Given the description of an element on the screen output the (x, y) to click on. 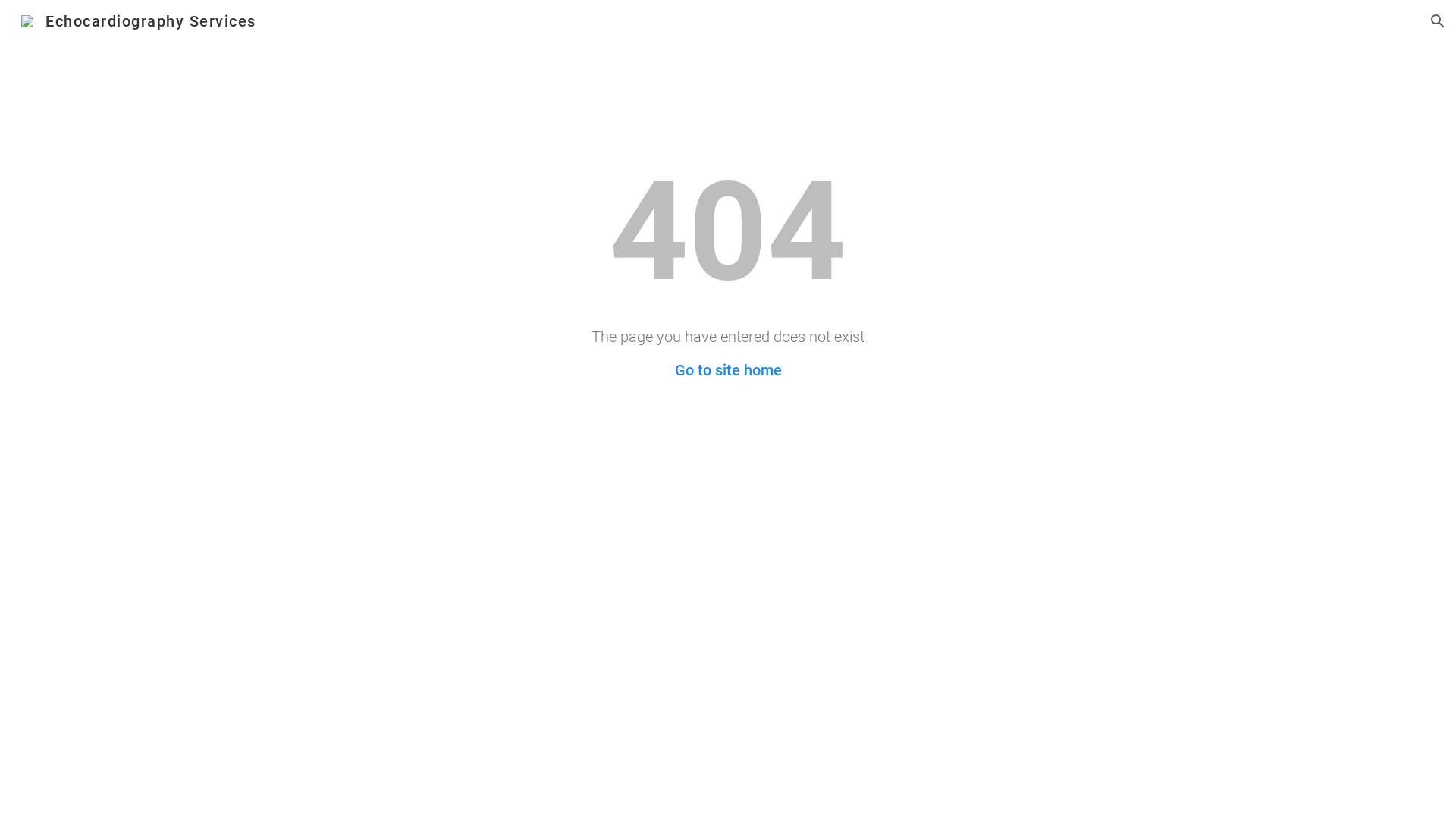
Echocardiography Services Element type: text (138, 19)
Go to site home Element type: text (727, 369)
